Given the description of an element on the screen output the (x, y) to click on. 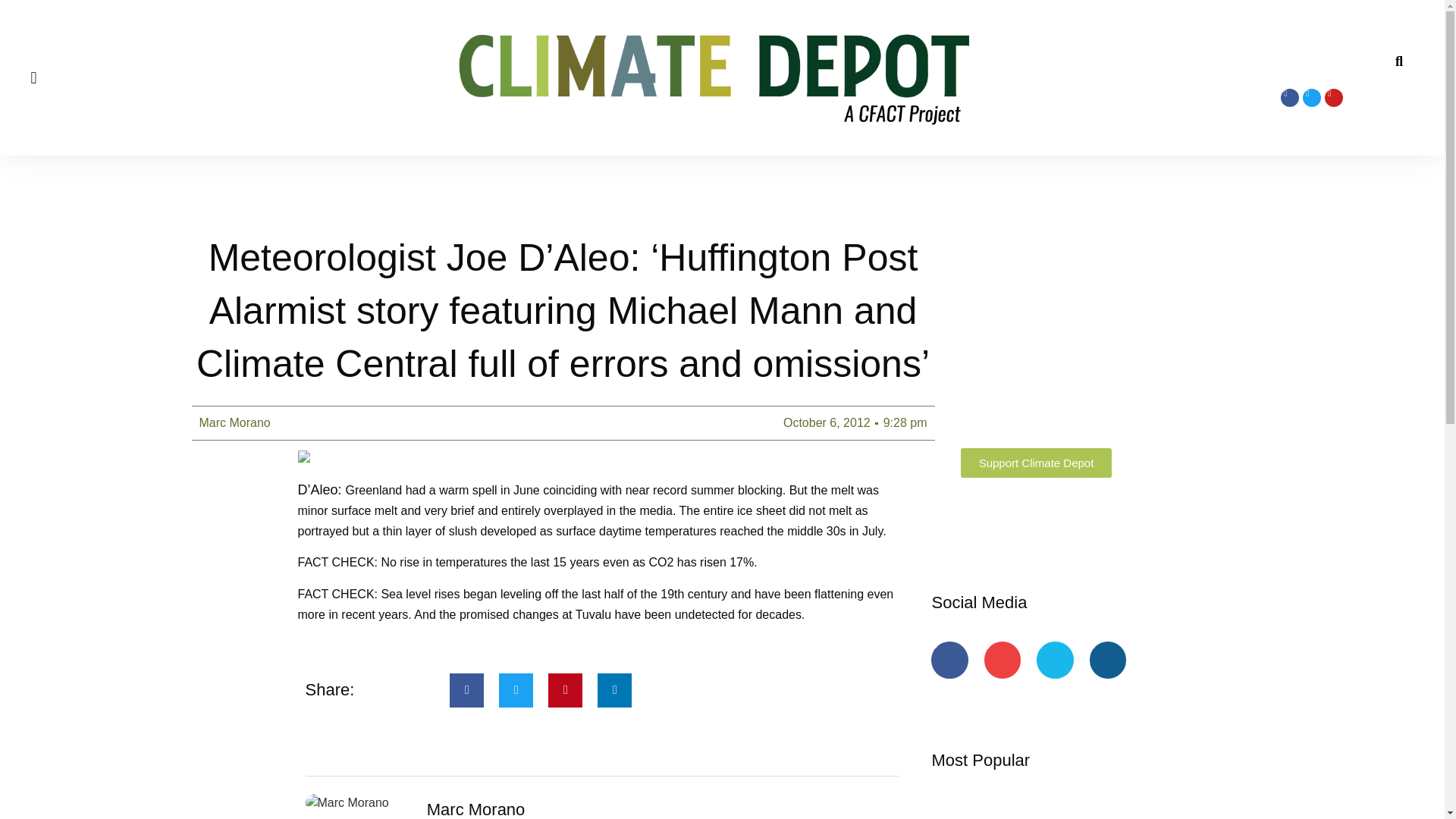
Support Climate Depot (1036, 462)
Marc Morano (233, 423)
October 6, 2012 (826, 423)
